Given the description of an element on the screen output the (x, y) to click on. 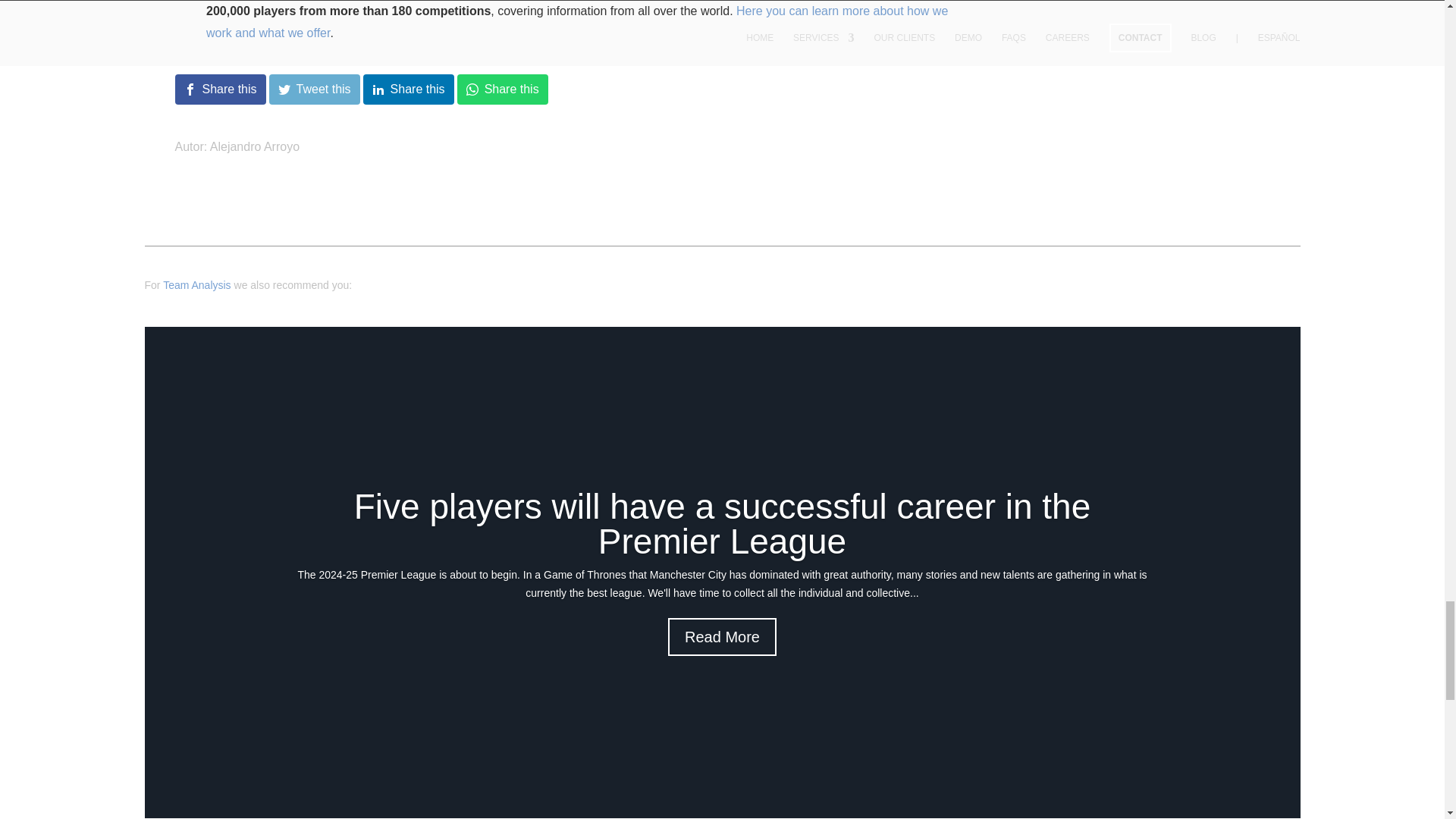
Share this (219, 89)
Share this (502, 89)
Share this (408, 89)
Tweet this (314, 89)
Here you can learn more about how we work and what we offer (576, 21)
